Given the description of an element on the screen output the (x, y) to click on. 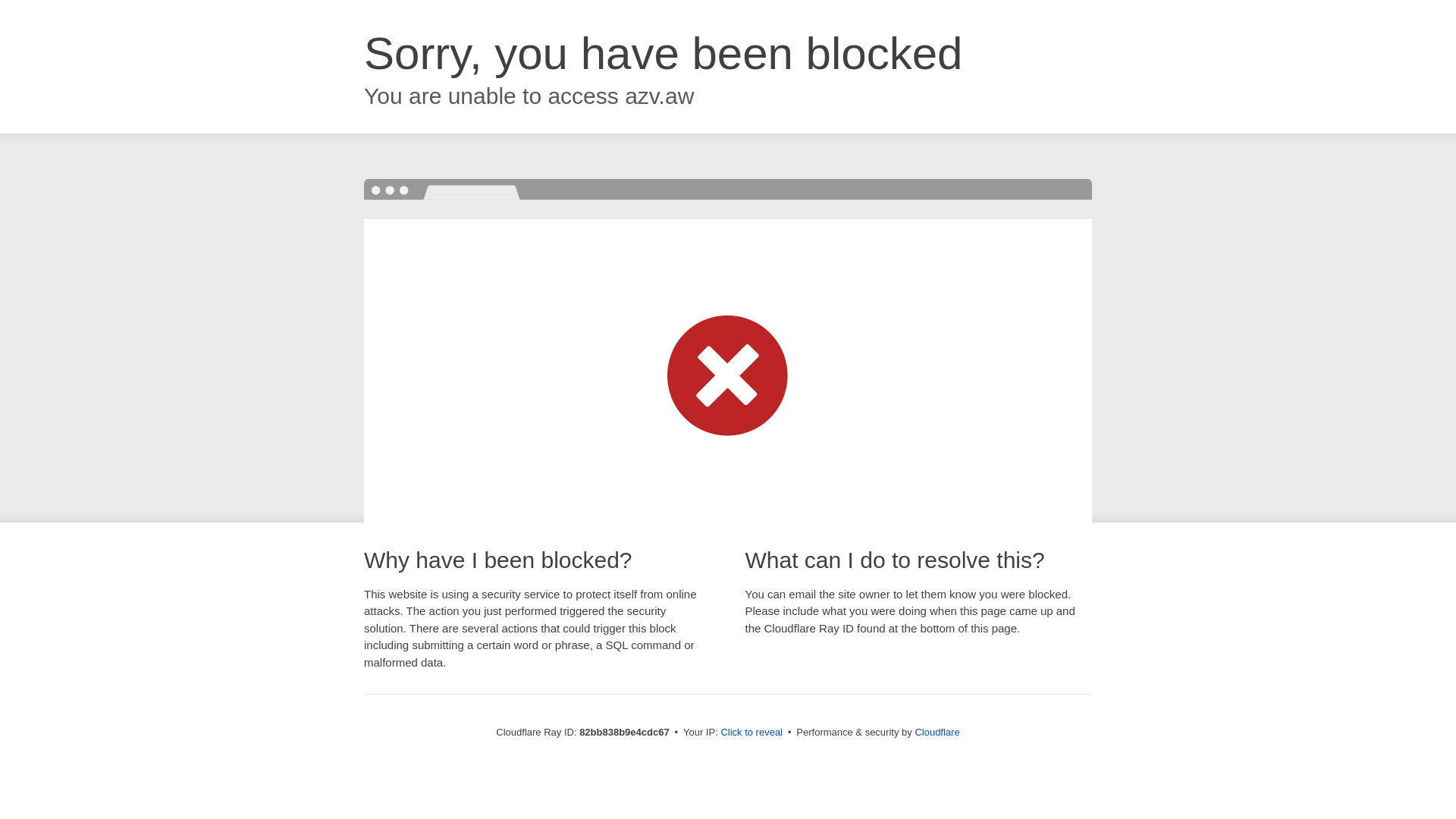
Cloudflare Element type: text (936, 731)
Click to reveal Element type: text (751, 732)
